Given the description of an element on the screen output the (x, y) to click on. 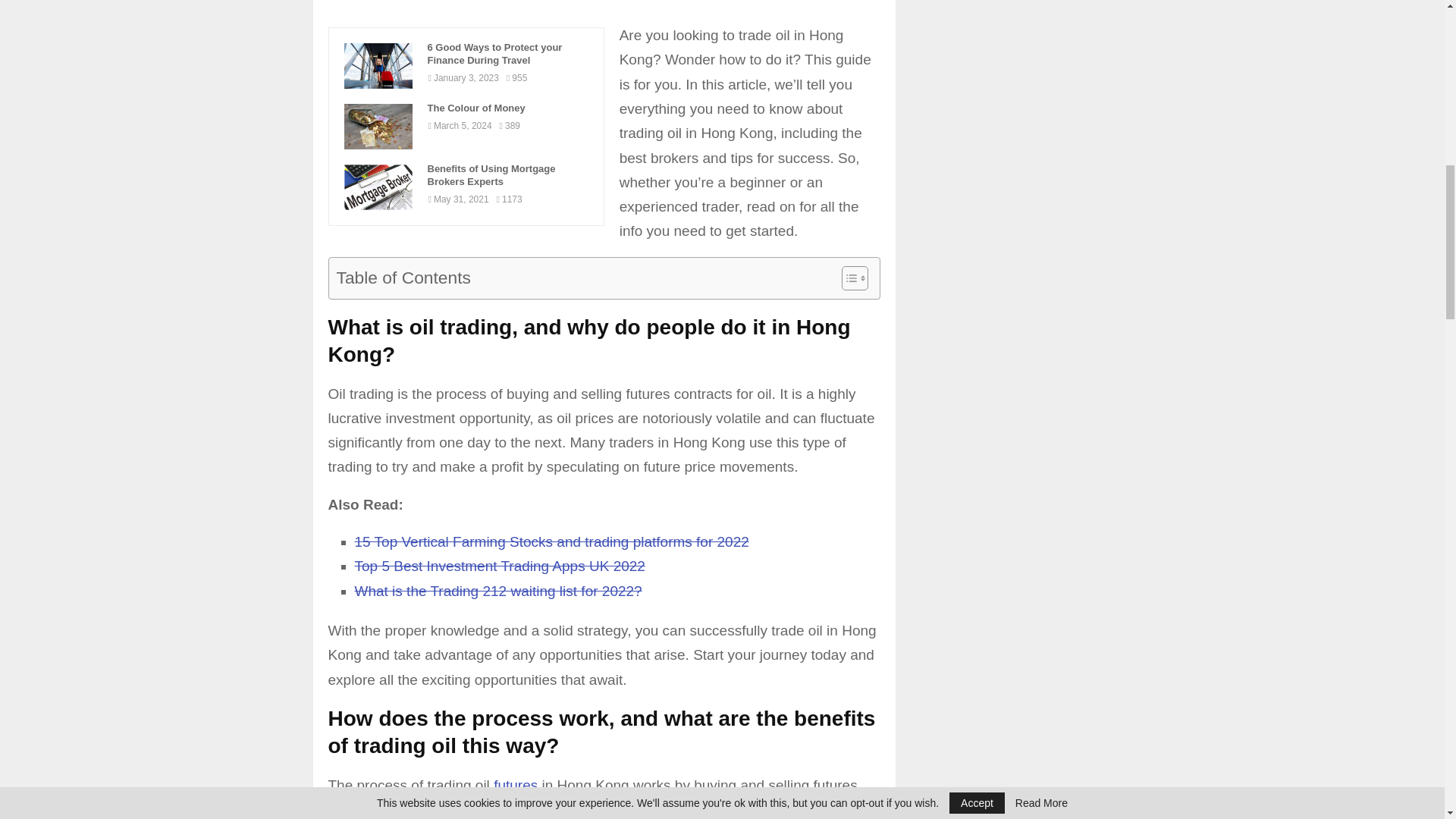
6 Good Ways to Protect your Finance During Travel (508, 54)
Advertisement (611, 11)
Benefits of Using Mortgage Brokers Experts (377, 186)
6 Good Ways to Protect your Finance During Travel (377, 65)
The Colour of Money (508, 108)
The Colour of Money (377, 126)
